Given the description of an element on the screen output the (x, y) to click on. 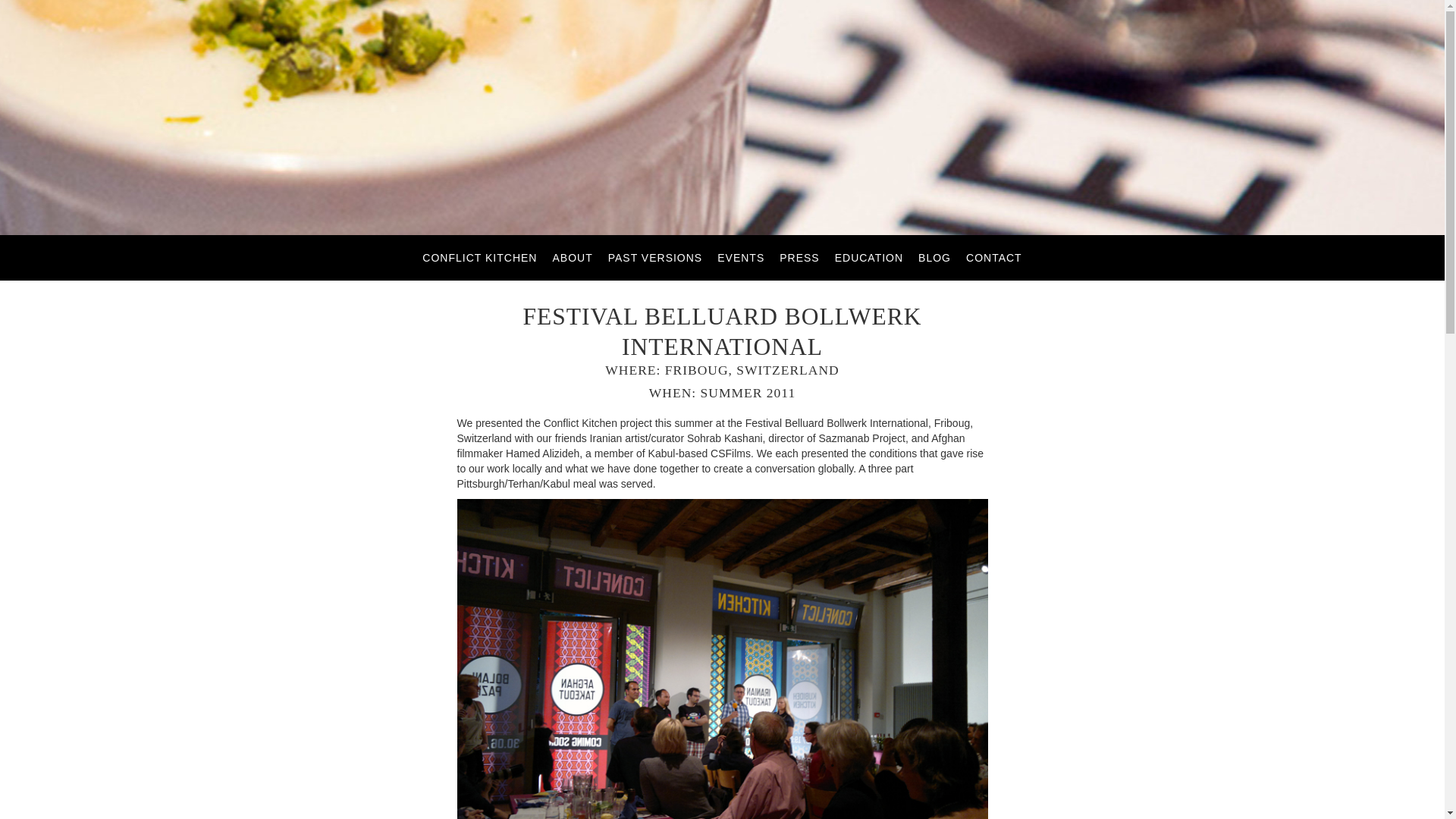
EVENTS (740, 257)
CONFLICT KITCHEN (479, 257)
CONTACT (994, 257)
BLOG (934, 257)
ABOUT (571, 257)
PAST VERSIONS (655, 257)
PRESS (798, 257)
EDUCATION (868, 257)
